Given the description of an element on the screen output the (x, y) to click on. 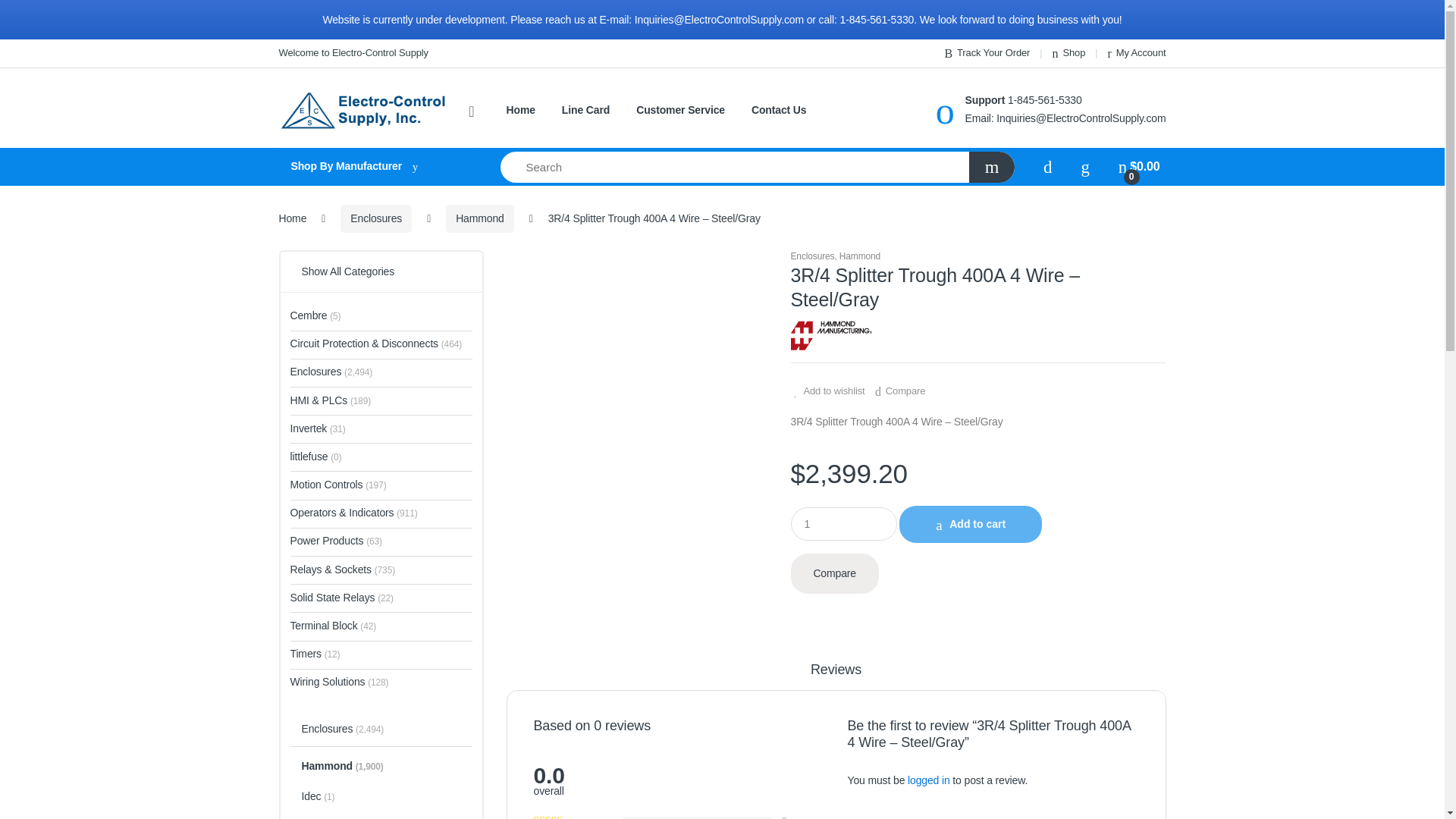
Welcome to Electro-Control Supply (353, 53)
Shop (1069, 53)
Shop By Manufacturer (375, 166)
Customer Service (680, 110)
Welcome to Electro-Control Supply (353, 53)
Line Card (586, 110)
1 (843, 523)
Shop (1069, 53)
My Account (1136, 53)
Track Your Order (987, 53)
